Given the description of an element on the screen output the (x, y) to click on. 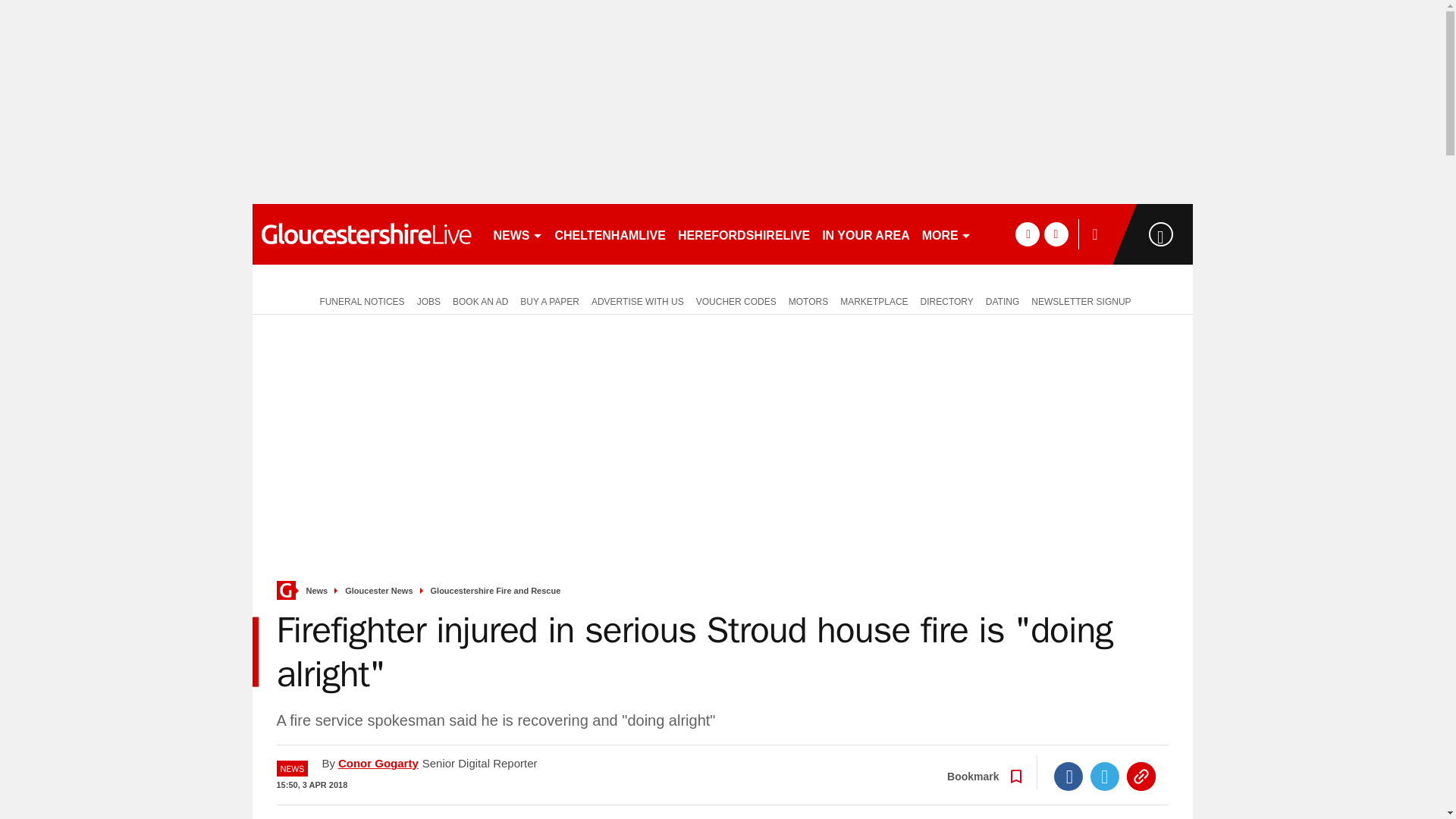
CHELTENHAMLIVE (609, 233)
MORE (945, 233)
gloucestershirelive (365, 233)
facebook (1026, 233)
twitter (1055, 233)
NEWS (517, 233)
Twitter (1104, 776)
HEREFORDSHIRELIVE (743, 233)
Facebook (1068, 776)
IN YOUR AREA (865, 233)
